Given the description of an element on the screen output the (x, y) to click on. 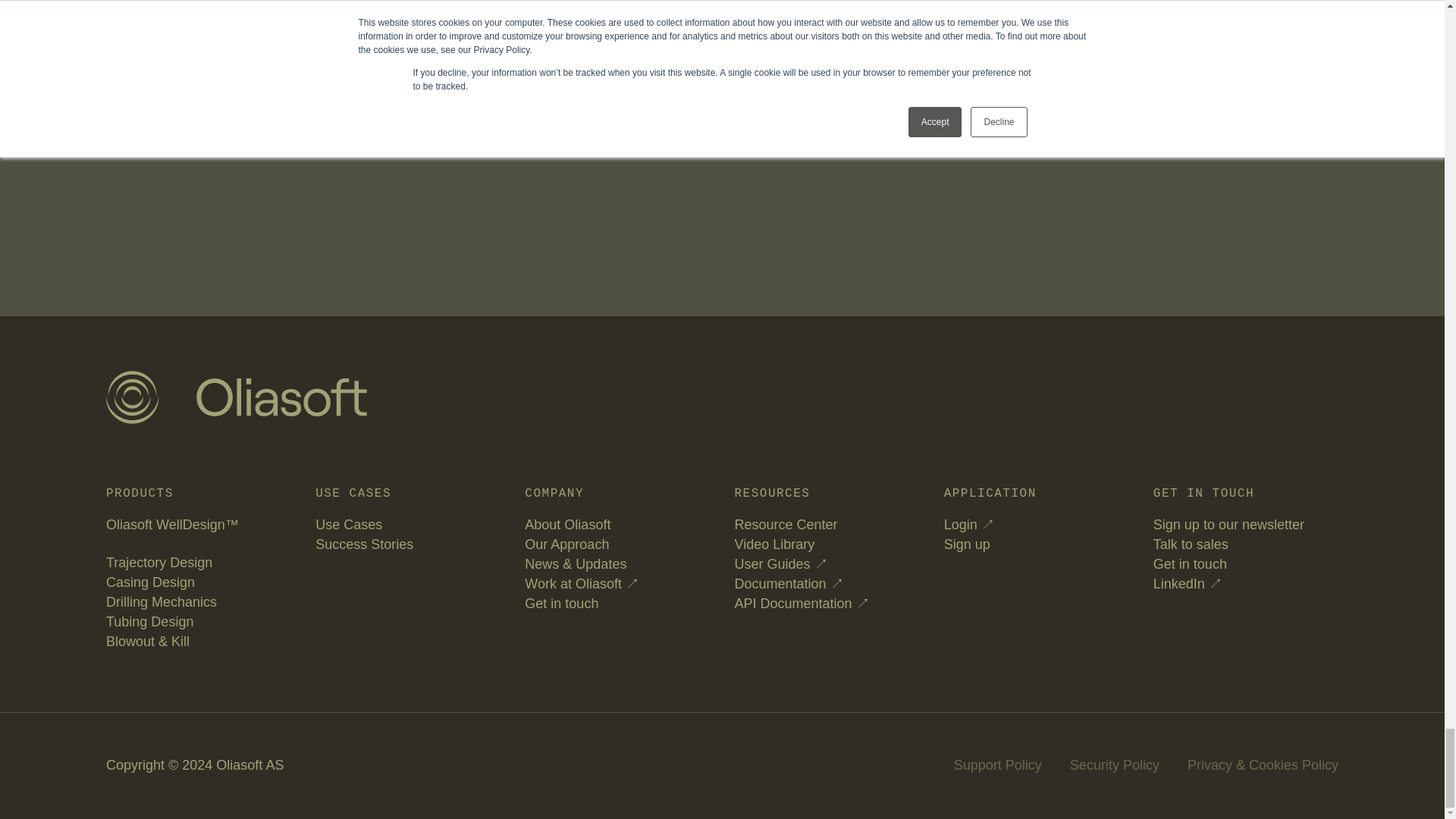
Casing Design (150, 581)
TALK TO SALES (168, 30)
Tubing Design (149, 621)
GET IN TOUCH (299, 30)
Drilling Mechanics (161, 601)
Trajectory Design (159, 562)
